Given the description of an element on the screen output the (x, y) to click on. 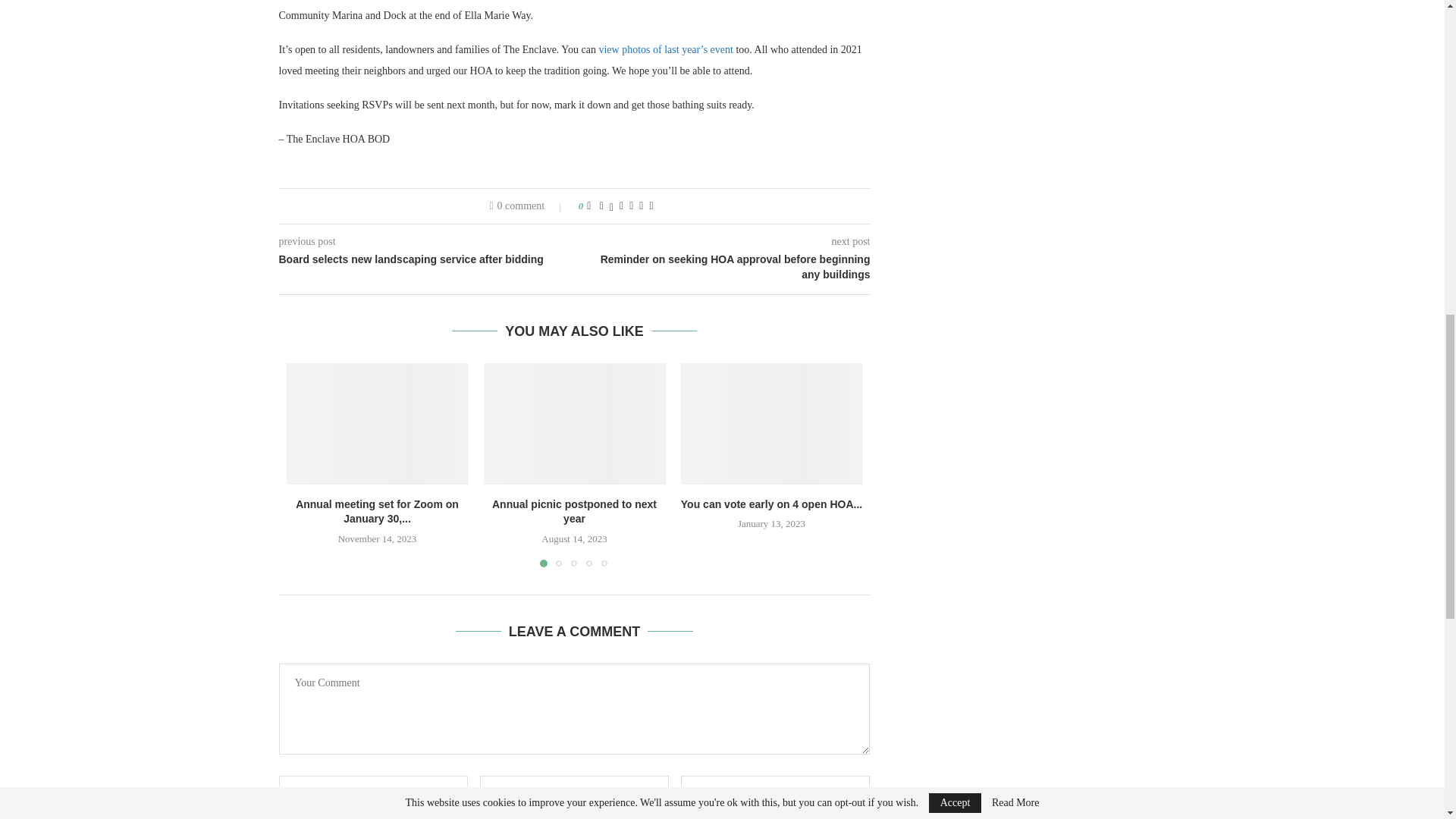
Annual meeting set for Zoom on January 30,... (376, 511)
Annual picnic postponed to next year (574, 511)
Annual picnic postponed to next year (574, 423)
You can vote early on 4 open HOA Board seats (772, 423)
Board selects new landscaping service after bidding (427, 259)
You can vote early on 4 open HOA... (771, 503)
Annual meeting set for Zoom on January 30, 2024 (377, 423)
